Given the description of an element on the screen output the (x, y) to click on. 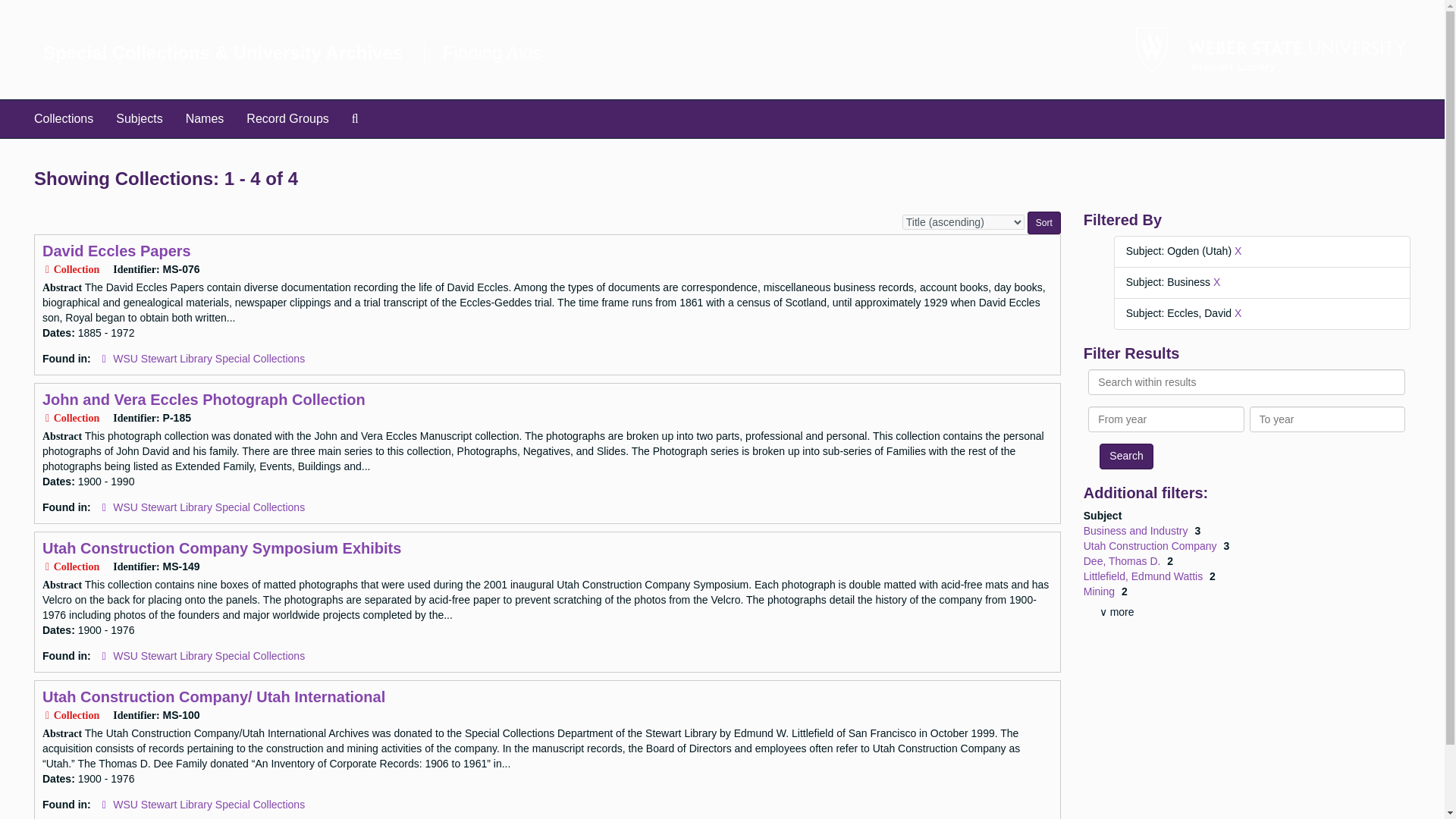
David Eccles Papers (116, 250)
Filter By 'Littlefield, Edmund Wattis' (1144, 576)
Homepage (491, 52)
Dee, Thomas D. (1123, 561)
Business and Industry (1137, 530)
Filter By 'Utah Construction Company' (1151, 545)
Filter By 'Business and Industry' (1137, 530)
Utah Construction Company (1151, 545)
WSU Stewart Library Special Collections (208, 655)
Filter By 'Mining' (1100, 591)
